Given the description of an element on the screen output the (x, y) to click on. 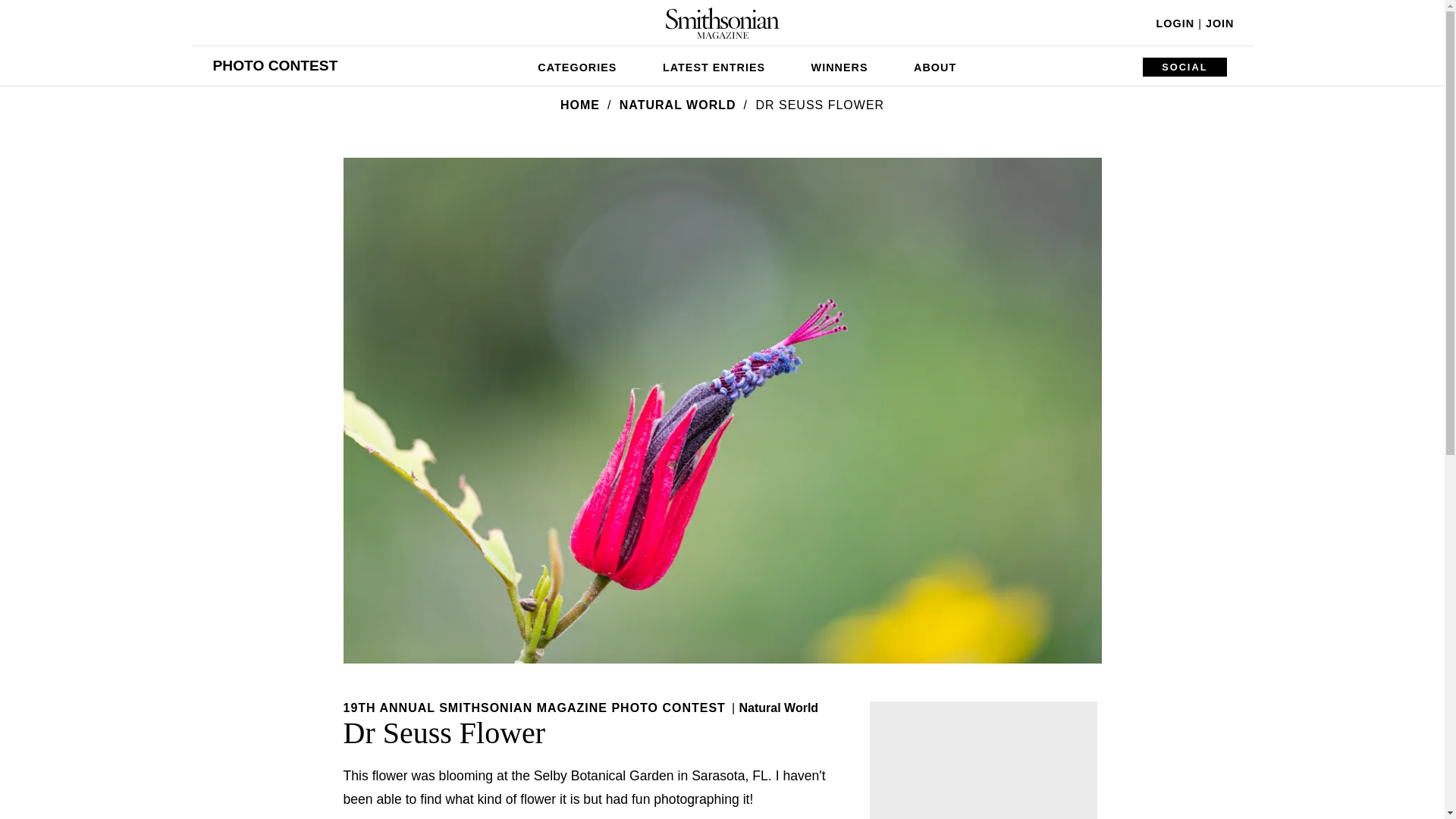
CATEGORIES (577, 65)
PHOTO CONTEST (274, 65)
LATEST ENTRIES (713, 65)
ABOUT (934, 65)
JOIN (1219, 23)
WINNERS (839, 65)
SOCIAL (1183, 66)
